Given the description of an element on the screen output the (x, y) to click on. 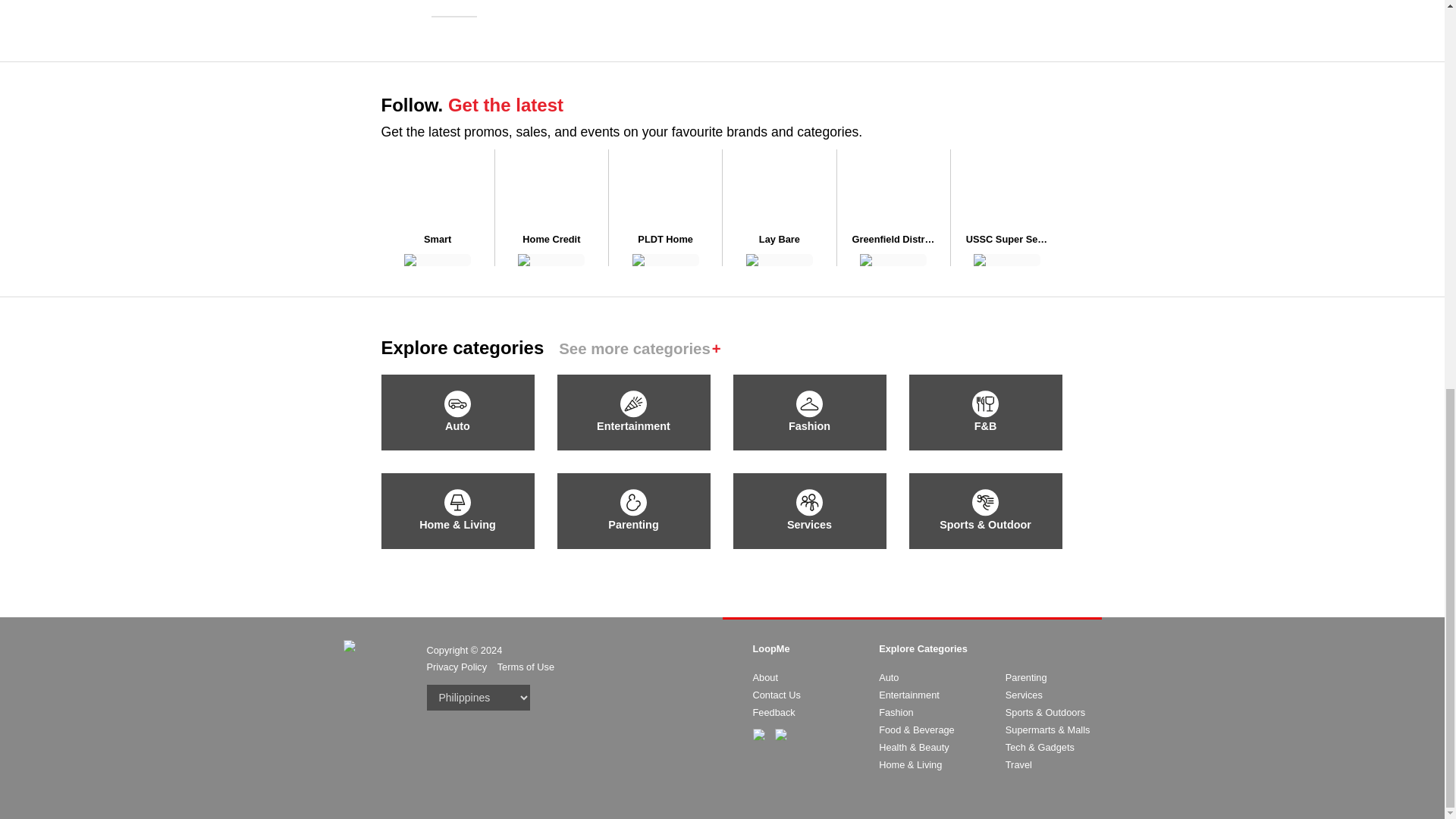
Greenfield District (892, 239)
Home Credit (551, 239)
PLDT Home (665, 239)
USSC Super Service Store (1007, 239)
Lay Bare (779, 239)
Smart (437, 239)
